Given the description of an element on the screen output the (x, y) to click on. 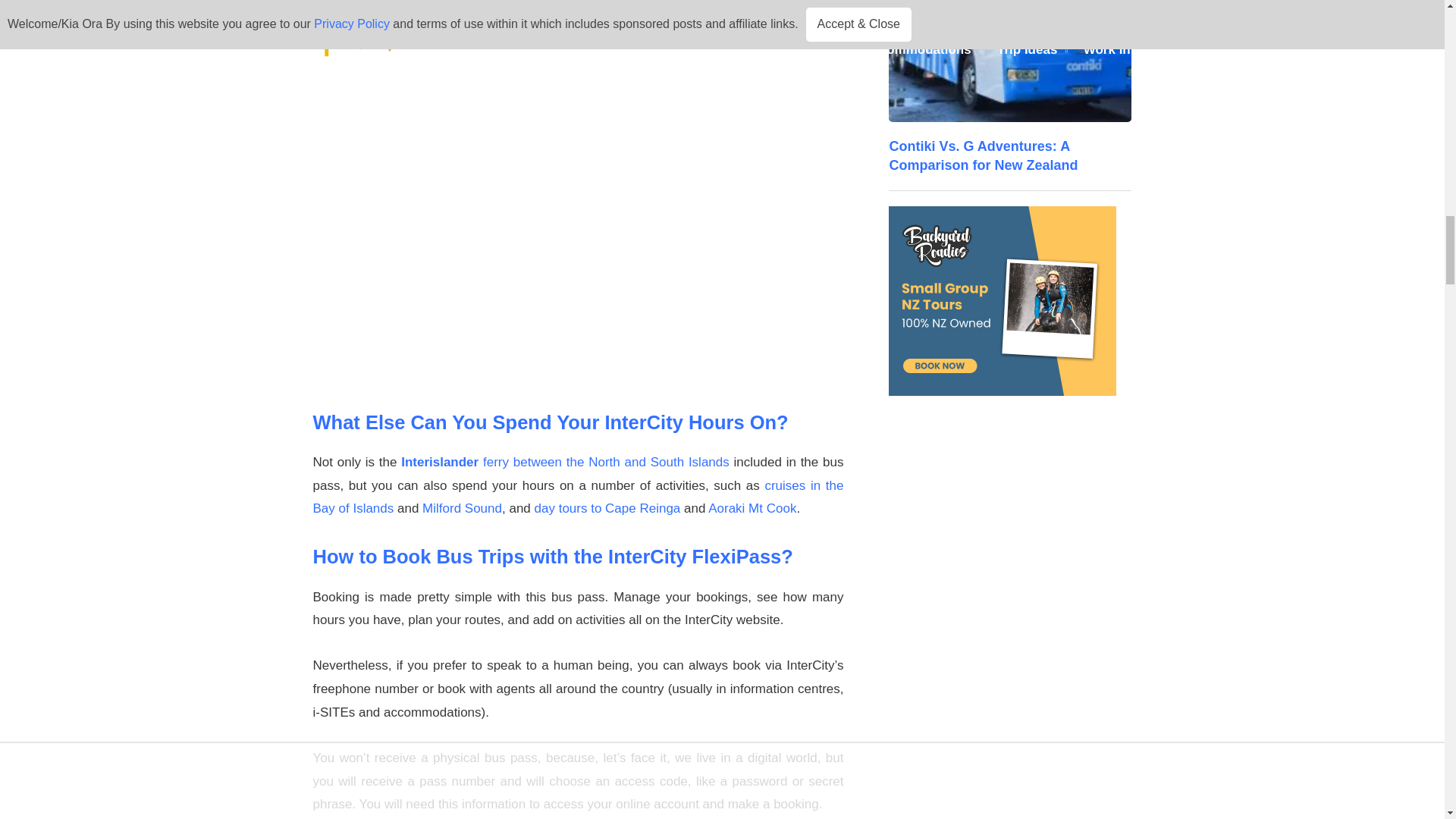
3rd party ad content (1009, 300)
